Given the description of an element on the screen output the (x, y) to click on. 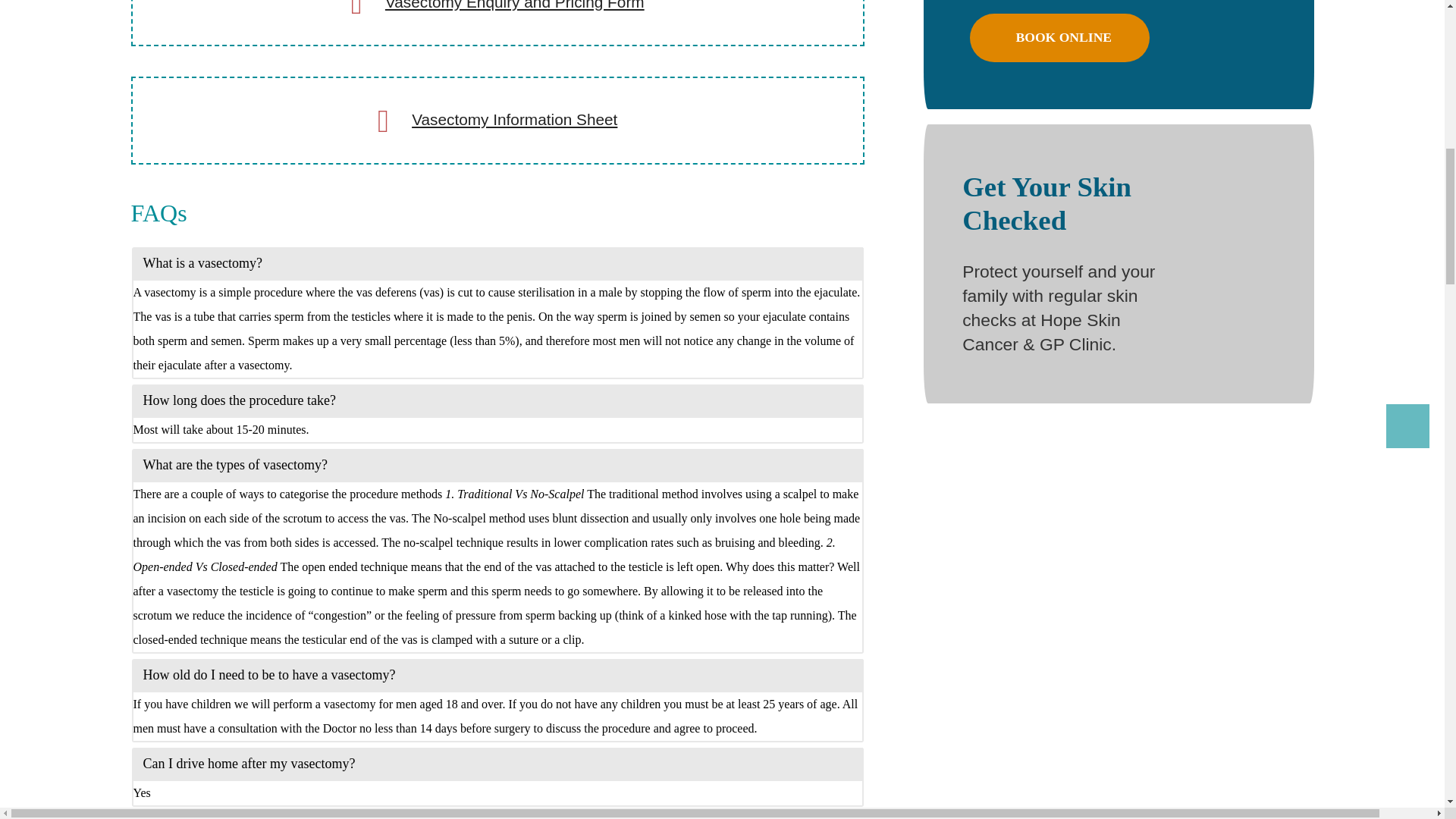
Vasectomy Enquiry and Pricing Form (515, 4)
Vasectomy Information Sheet (514, 118)
What is a vasectomy? (497, 263)
Can I drive home after my vasectomy? (497, 763)
How long does the procedure take? (497, 399)
What are the types of vasectomy? (497, 464)
How old do I need to be to have a vasectomy? (497, 674)
